Given the description of an element on the screen output the (x, y) to click on. 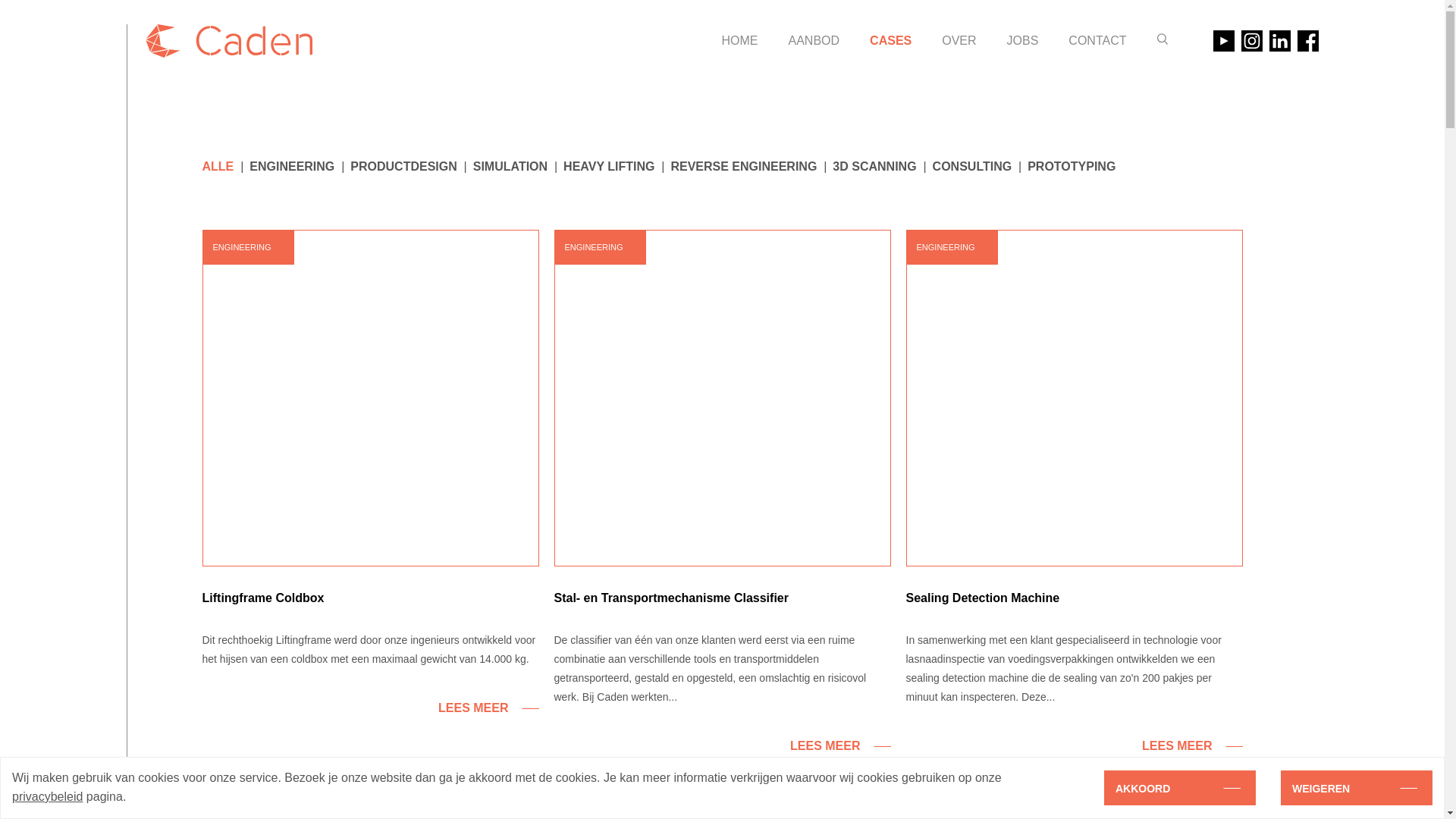
privacybeleid Element type: text (47, 796)
LEES MEER Element type: text (369, 708)
Bezoek onze LinkedIn pagina Element type: hover (1279, 40)
CONSULTING Element type: text (972, 166)
HEAVY LIFTING Element type: text (608, 166)
Bezoek onze Youtube pagina Element type: hover (1223, 40)
HOME Element type: text (739, 40)
Bezoek onze Instagram pagina Element type: hover (1250, 40)
LEES MEER Element type: text (1073, 746)
PRODUCTDESIGN Element type: text (403, 166)
WEIGEREN Element type: text (1356, 787)
CASES Element type: text (890, 40)
ALLE Element type: text (217, 166)
AKKOORD Element type: text (1179, 787)
SIMULATION Element type: text (510, 166)
AANBOD Element type: text (814, 40)
Home Element type: hover (226, 40)
REVERSE ENGINEERING Element type: text (743, 166)
LEES MEER Element type: text (721, 746)
PROTOTYPING Element type: text (1071, 166)
JOBS Element type: text (1022, 40)
OVER Element type: text (958, 40)
CONTACT Element type: text (1097, 40)
Zoeken Element type: hover (1162, 38)
ENGINEERING Element type: text (291, 166)
Bezoek onze Facebook pagina Element type: hover (1306, 40)
3D SCANNING Element type: text (874, 166)
